Given the description of an element on the screen output the (x, y) to click on. 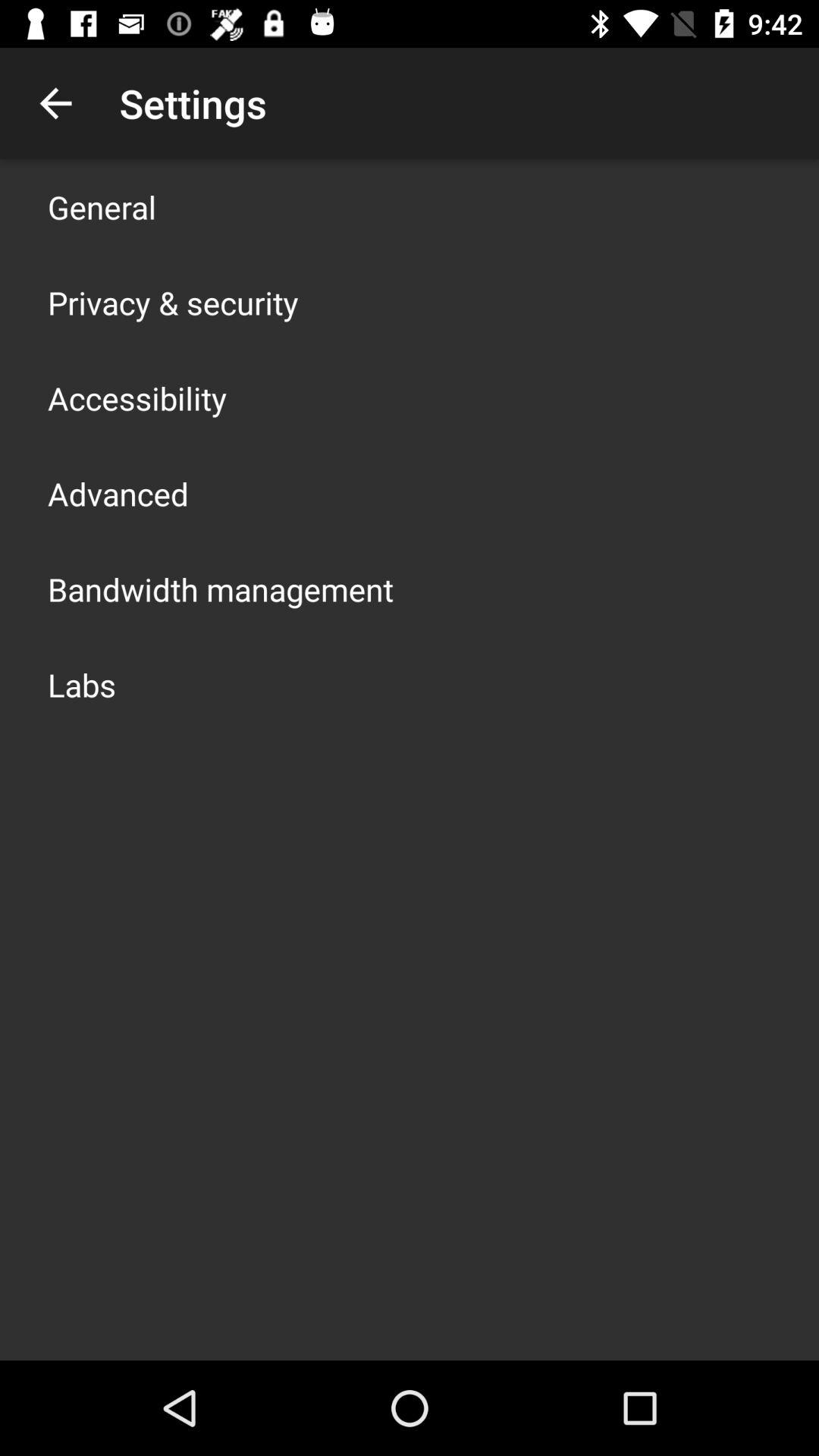
turn on app next to settings item (55, 103)
